Given the description of an element on the screen output the (x, y) to click on. 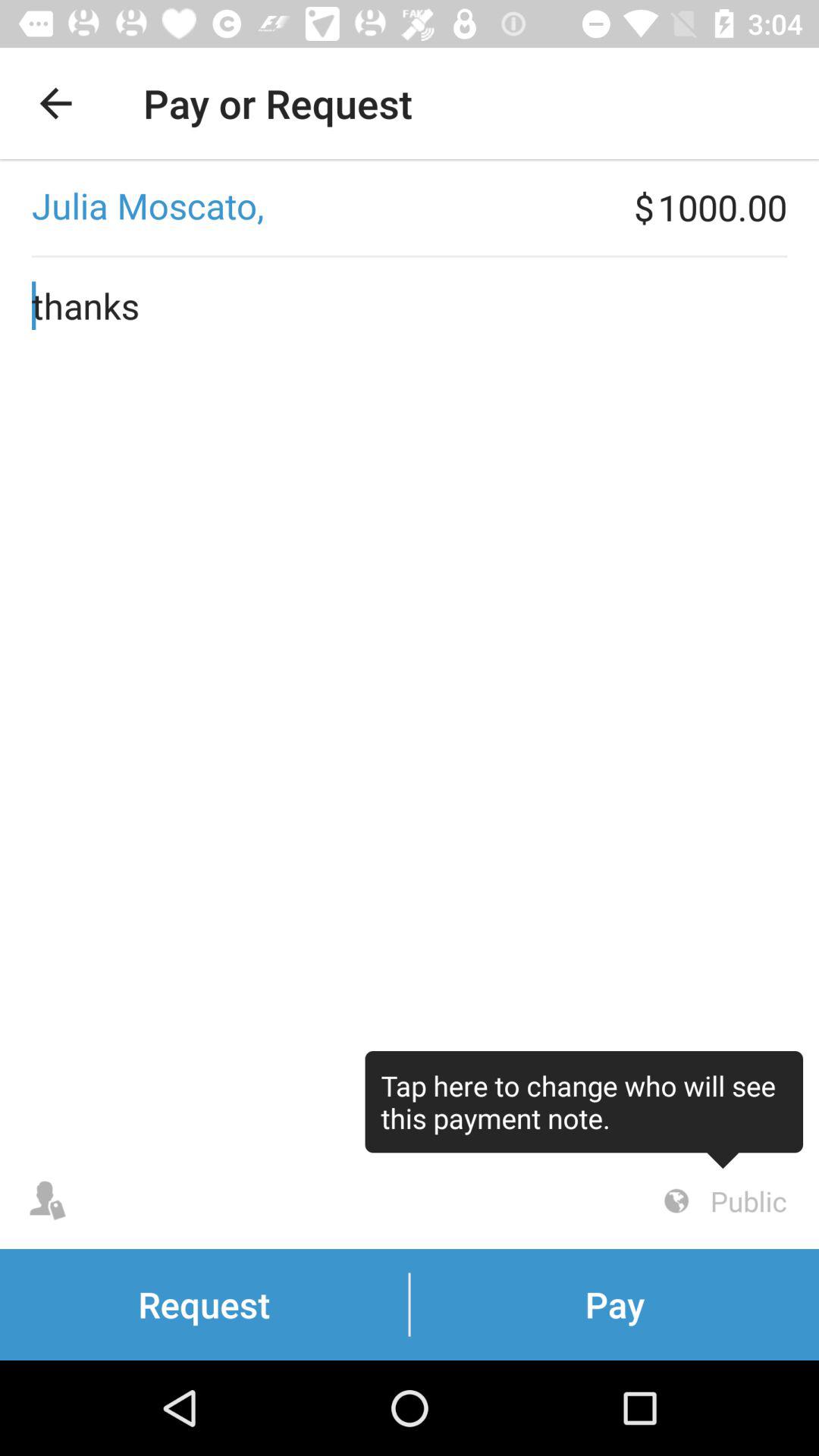
scroll to 1000.00 (738, 207)
